Given the description of an element on the screen output the (x, y) to click on. 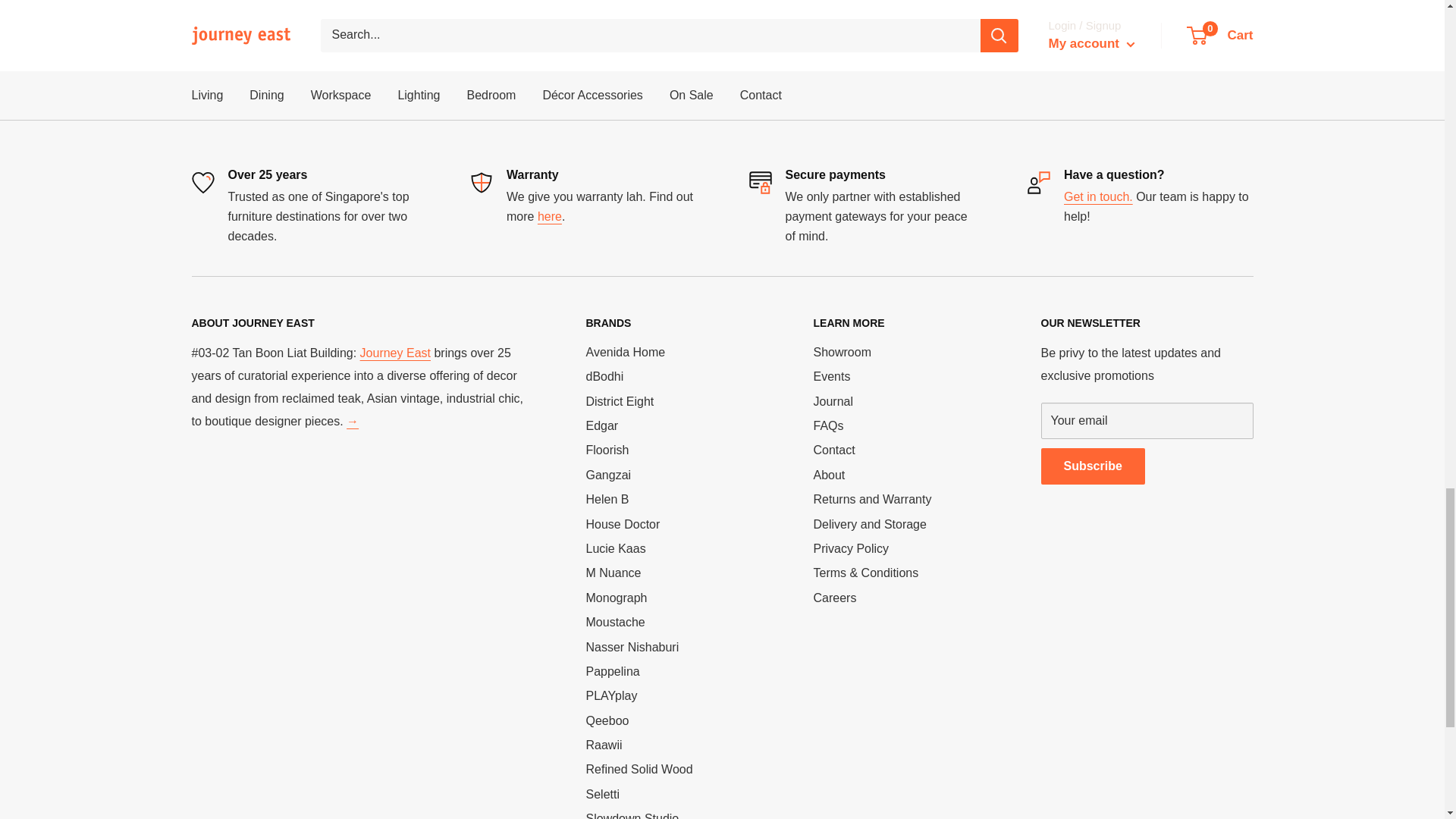
Returns, Warranty, and Storage (549, 215)
About (394, 352)
Hello from the other side (1098, 196)
About (352, 420)
